Given the description of an element on the screen output the (x, y) to click on. 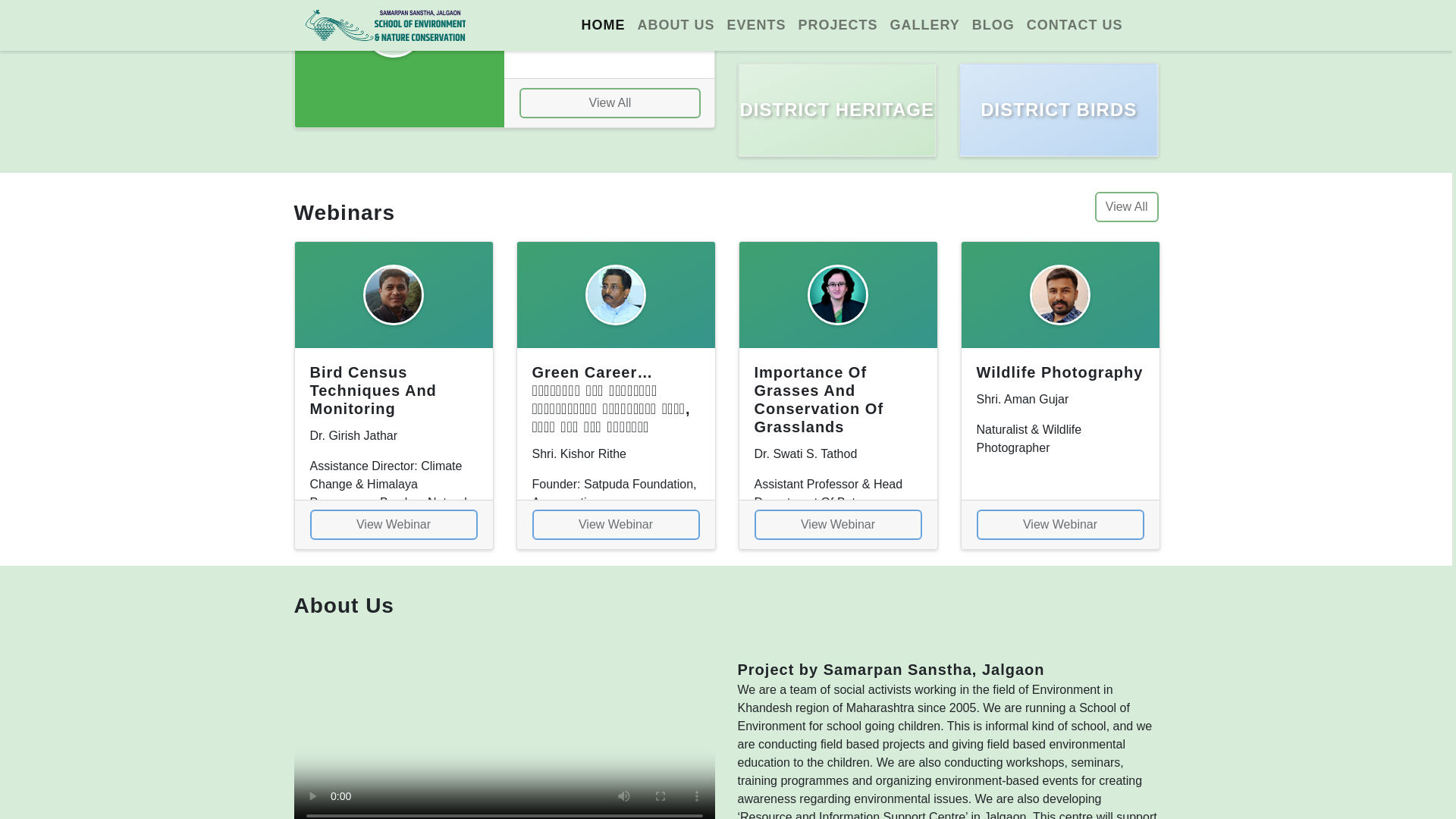
View Webinar (616, 524)
DISTRICT BIRDS (1058, 109)
View Webinar (837, 524)
SEARCH SARPAMITRA (1058, 22)
SEARCH PAKSHIMITRA (837, 22)
View Webinar (392, 524)
View All (1126, 206)
View Webinar (1060, 524)
View All (609, 102)
DISTRICT HERITAGE (837, 109)
